Given the description of an element on the screen output the (x, y) to click on. 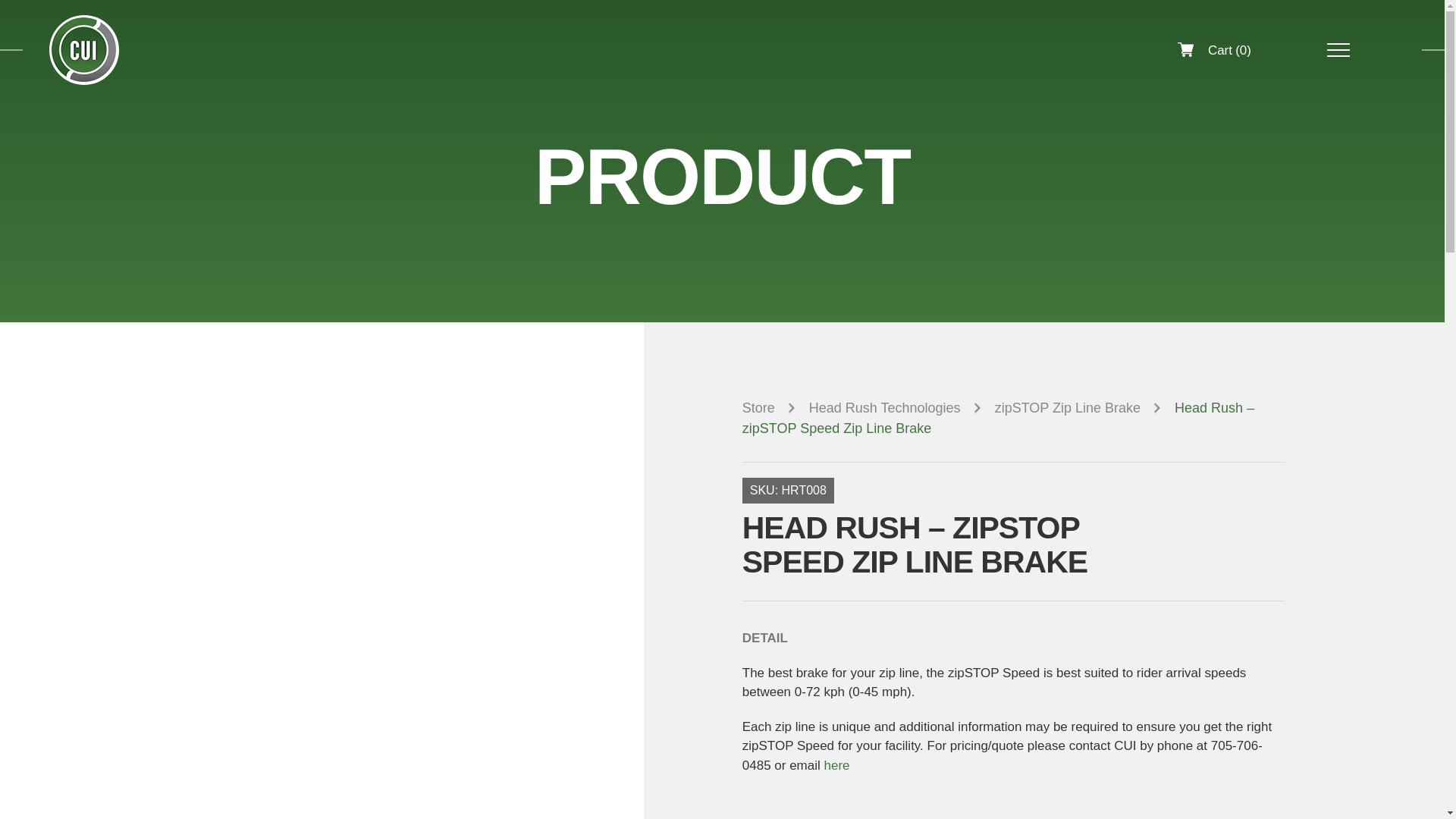
zipSTOP Zip Line Brake (1082, 407)
Head Rush Technologies (900, 407)
here (836, 765)
Store (773, 407)
